Given the description of an element on the screen output the (x, y) to click on. 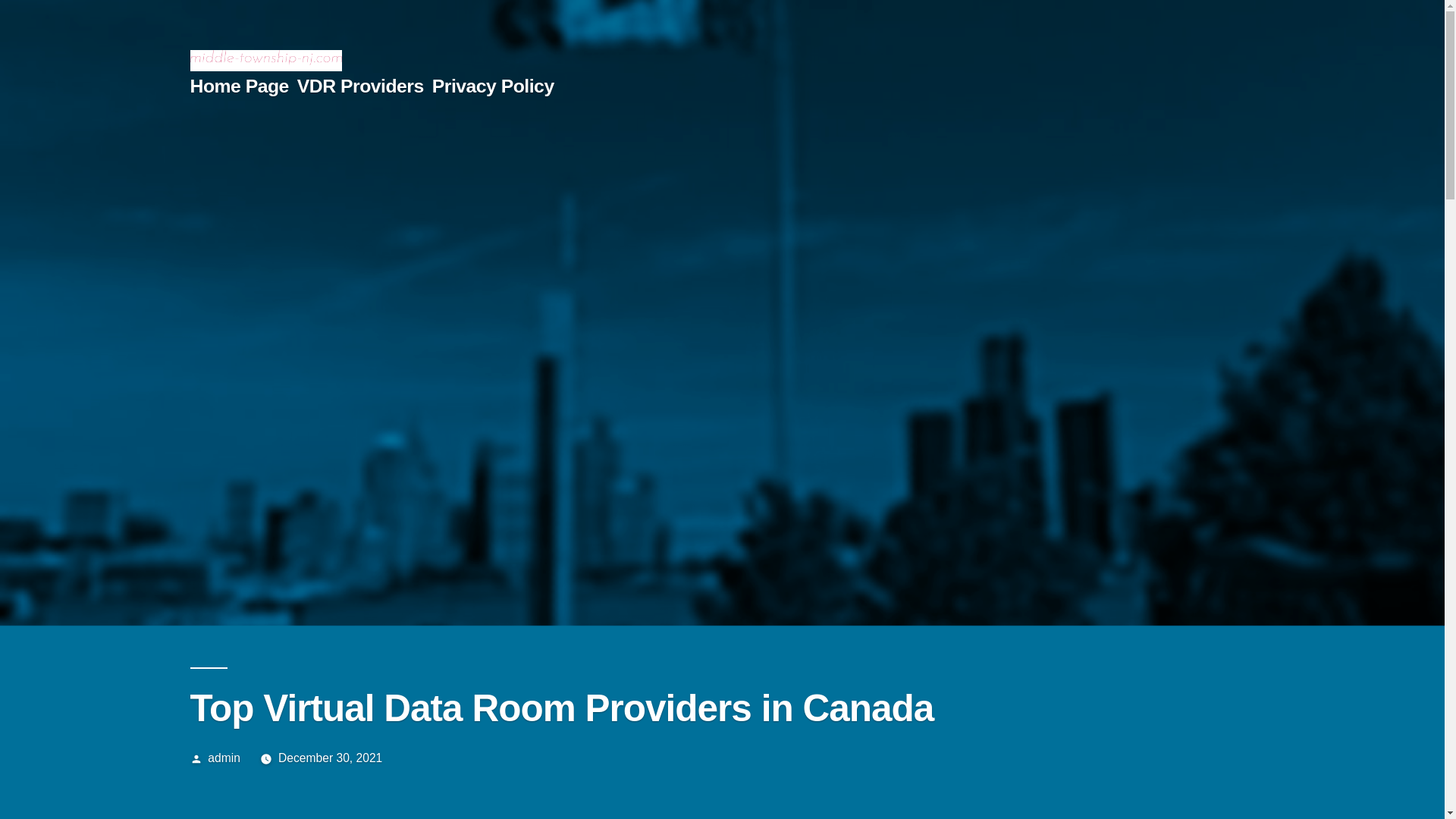
December 30, 2021 (329, 757)
Privacy Policy (493, 86)
admin (224, 757)
Home Page (238, 86)
VDR Providers (360, 86)
